Given the description of an element on the screen output the (x, y) to click on. 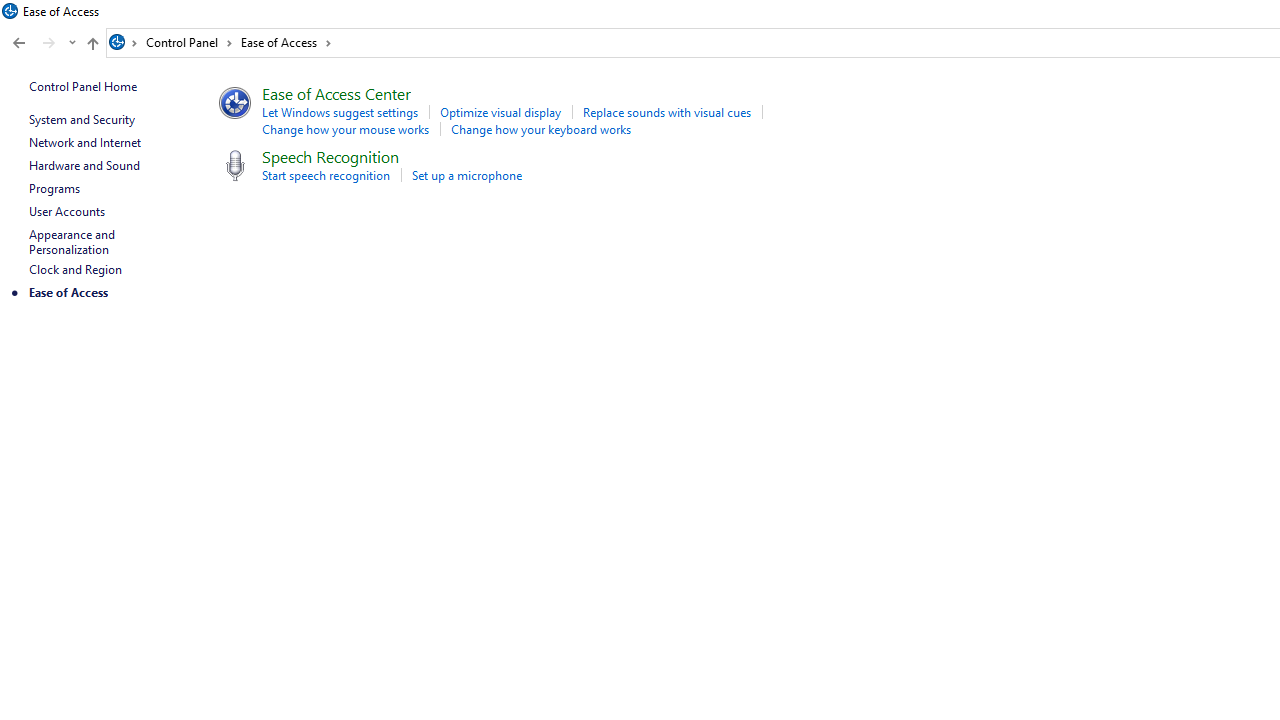
Network and Internet (84, 142)
Replace sounds with visual cues (666, 112)
All locations (124, 42)
Set up a microphone (466, 174)
Recent locations (71, 43)
Control Panel (189, 42)
Appearance and Personalization (73, 241)
Clock and Region (75, 269)
Up band toolbar (92, 46)
User Accounts (66, 210)
Optimize visual display (500, 112)
Back to Clock and Region (Alt + Left Arrow) (18, 43)
Ease of Access Center (336, 92)
System (10, 11)
Control Panel Home (82, 86)
